Given the description of an element on the screen output the (x, y) to click on. 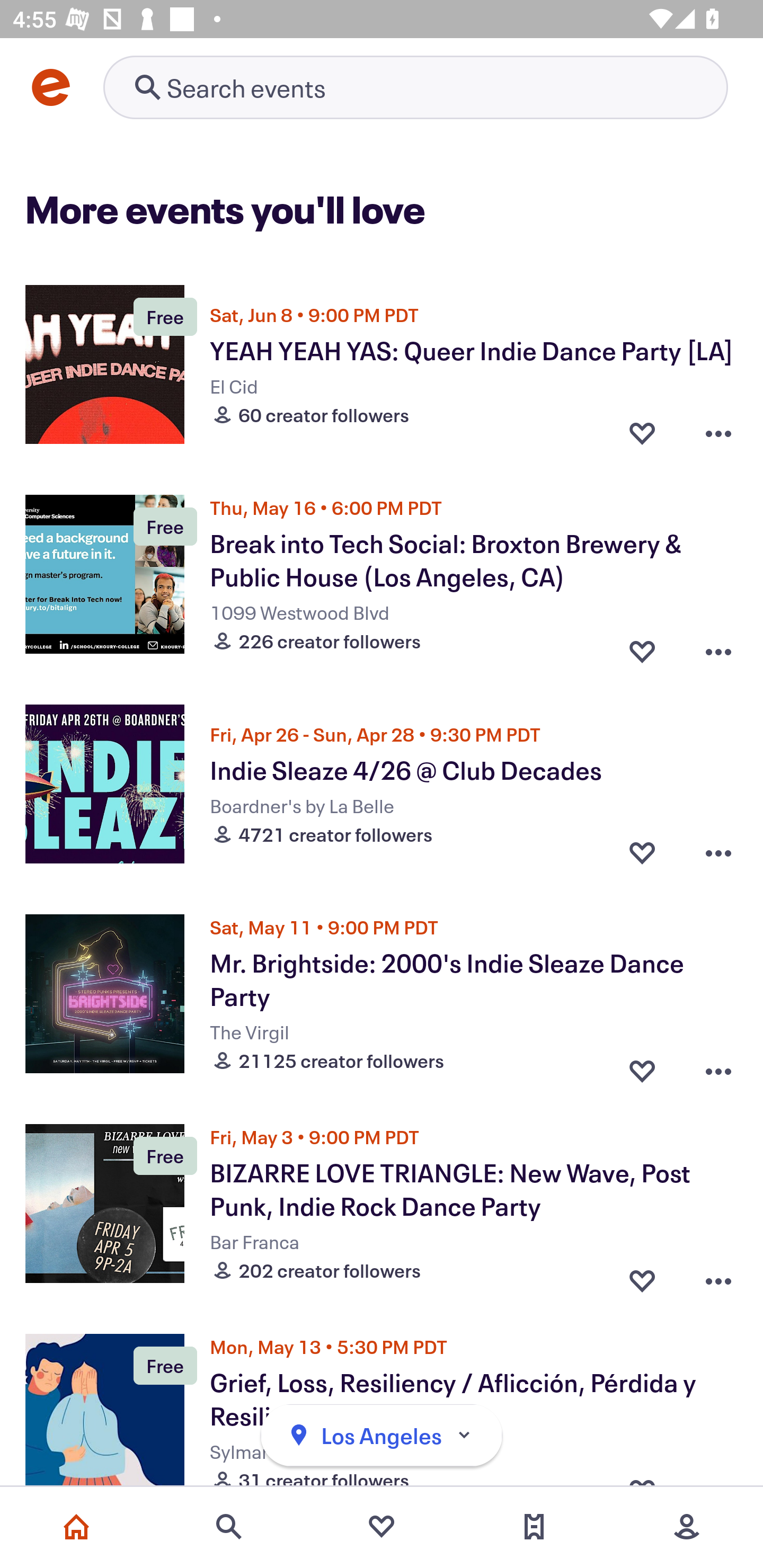
Retry's image Search events (415, 86)
Favorite button (642, 431)
Overflow menu button (718, 431)
Favorite button (642, 646)
Overflow menu button (718, 646)
Favorite button (642, 852)
Overflow menu button (718, 852)
Favorite button (642, 1066)
Overflow menu button (718, 1066)
Favorite button (642, 1275)
Overflow menu button (718, 1275)
Los Angeles (381, 1435)
Home (76, 1526)
Search events (228, 1526)
Favorites (381, 1526)
Tickets (533, 1526)
More (686, 1526)
